Given the description of an element on the screen output the (x, y) to click on. 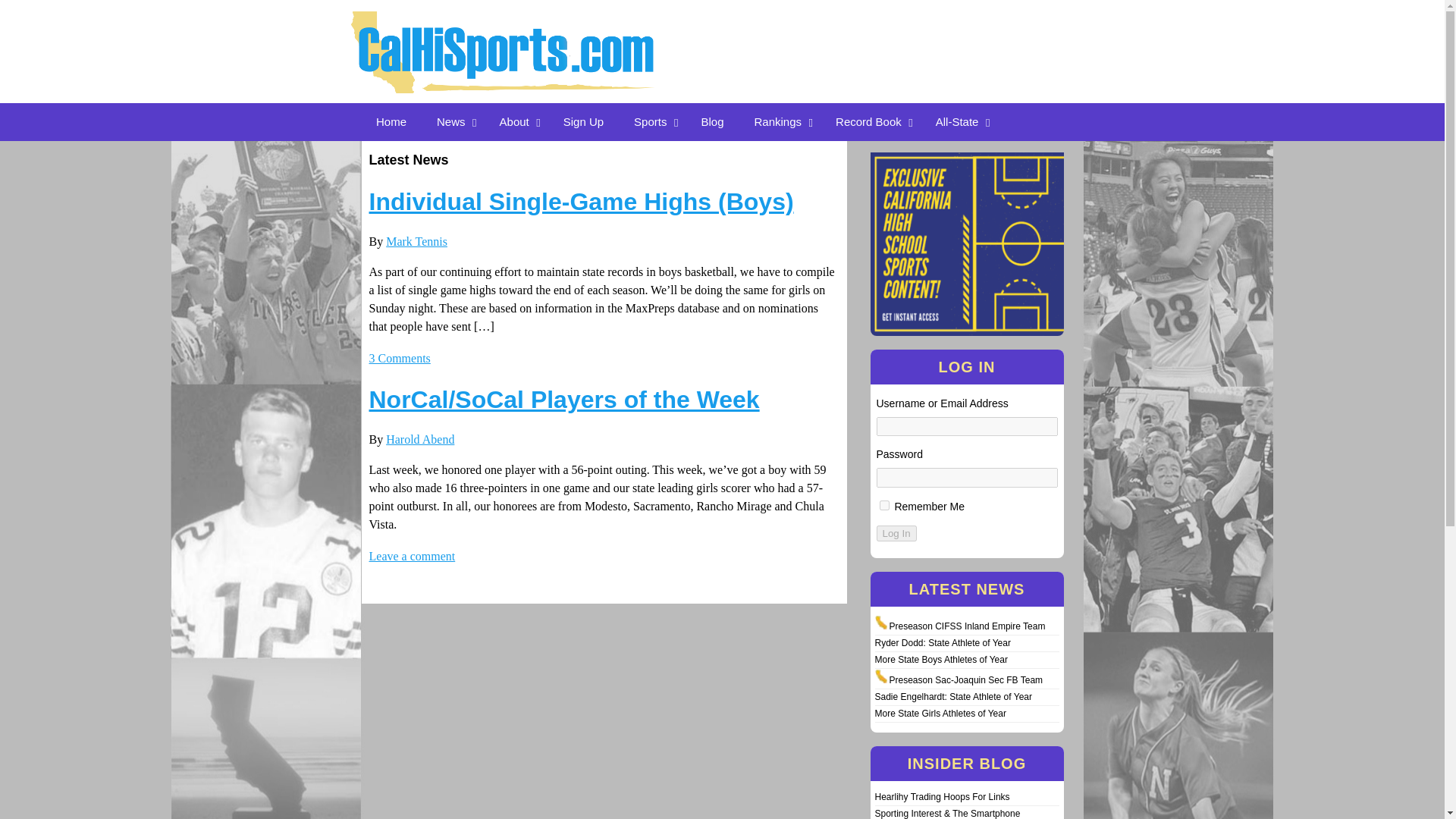
Permalink to More State Boys Athletes of Year (941, 659)
Rankings (779, 121)
Advertisement (941, 36)
View all posts by Mark Tennis (415, 241)
Permalink to Ryder Dodd: State Athlete of Year (942, 643)
Permalink to Sadie Engelhardt: State Athlete of Year (953, 696)
Record Book (870, 121)
Permalink to More State Girls Athletes of Year (940, 713)
forever (884, 505)
Permalink to Preseason CIFSS Inland Empire Team (966, 625)
